Given the description of an element on the screen output the (x, y) to click on. 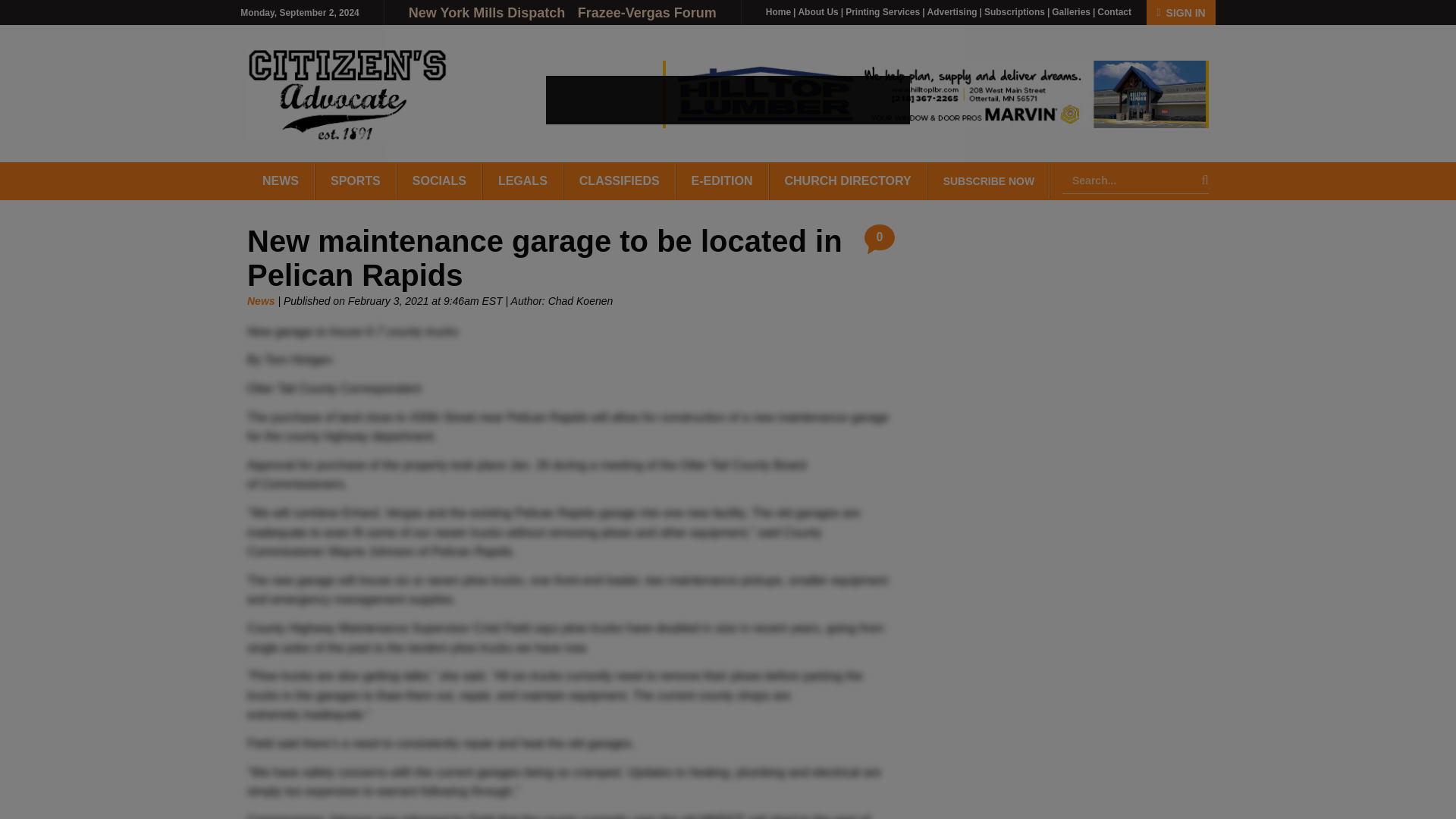
Printing Services (882, 11)
New York Mills Dispatch (489, 11)
SIGN IN (1180, 12)
Subscriptions (1014, 11)
Galleries (1070, 11)
Home (777, 11)
SPORTS (355, 180)
Frazee-Vergas Forum (647, 11)
Advertising (951, 11)
Contact (1114, 11)
